Given the description of an element on the screen output the (x, y) to click on. 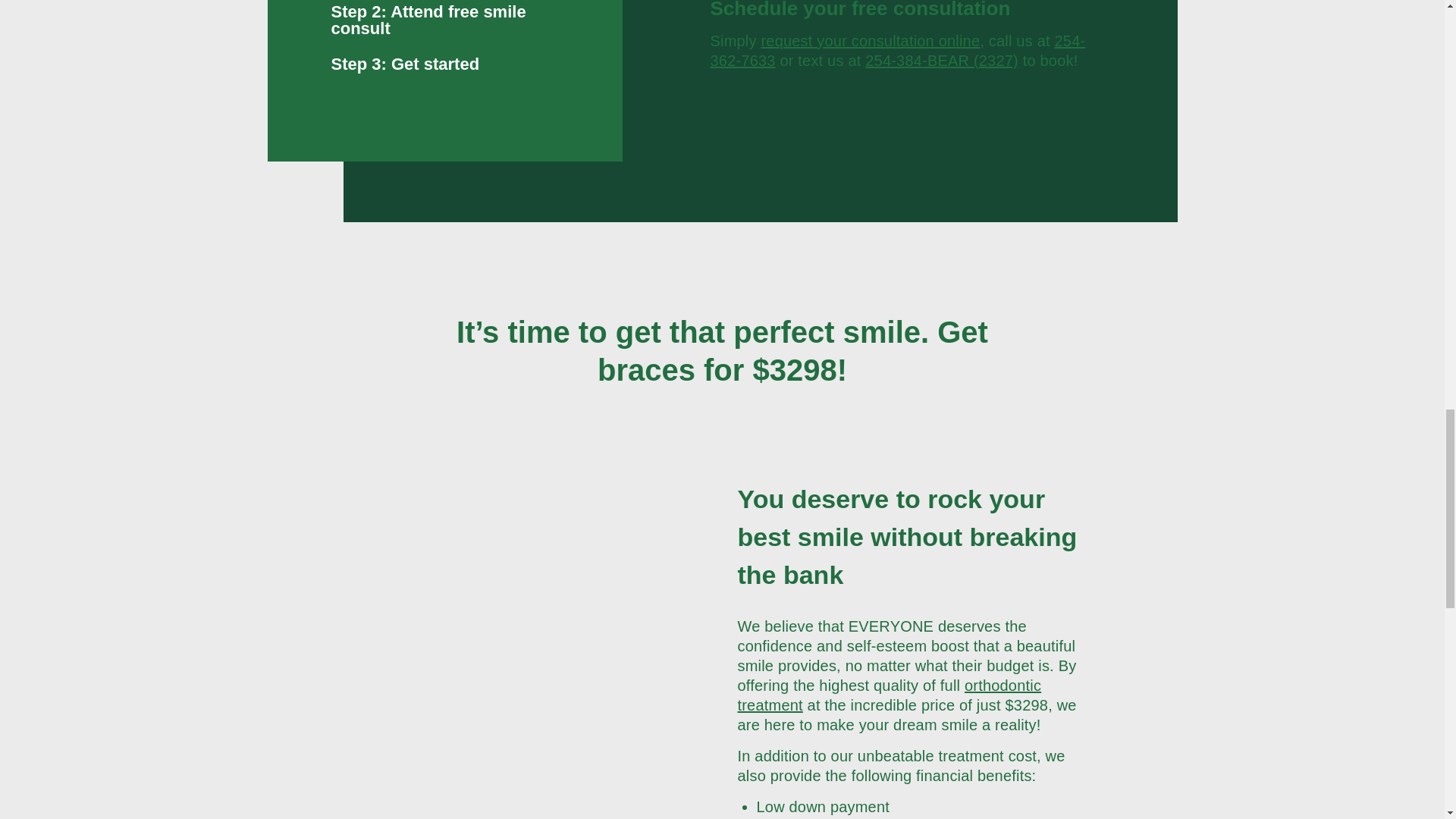
request your consultation online (869, 40)
Step 3: Get started (443, 64)
orthodontic treatment (888, 695)
254-362-7633 (897, 50)
Step 2: Attend free smile consult (443, 20)
